Given the description of an element on the screen output the (x, y) to click on. 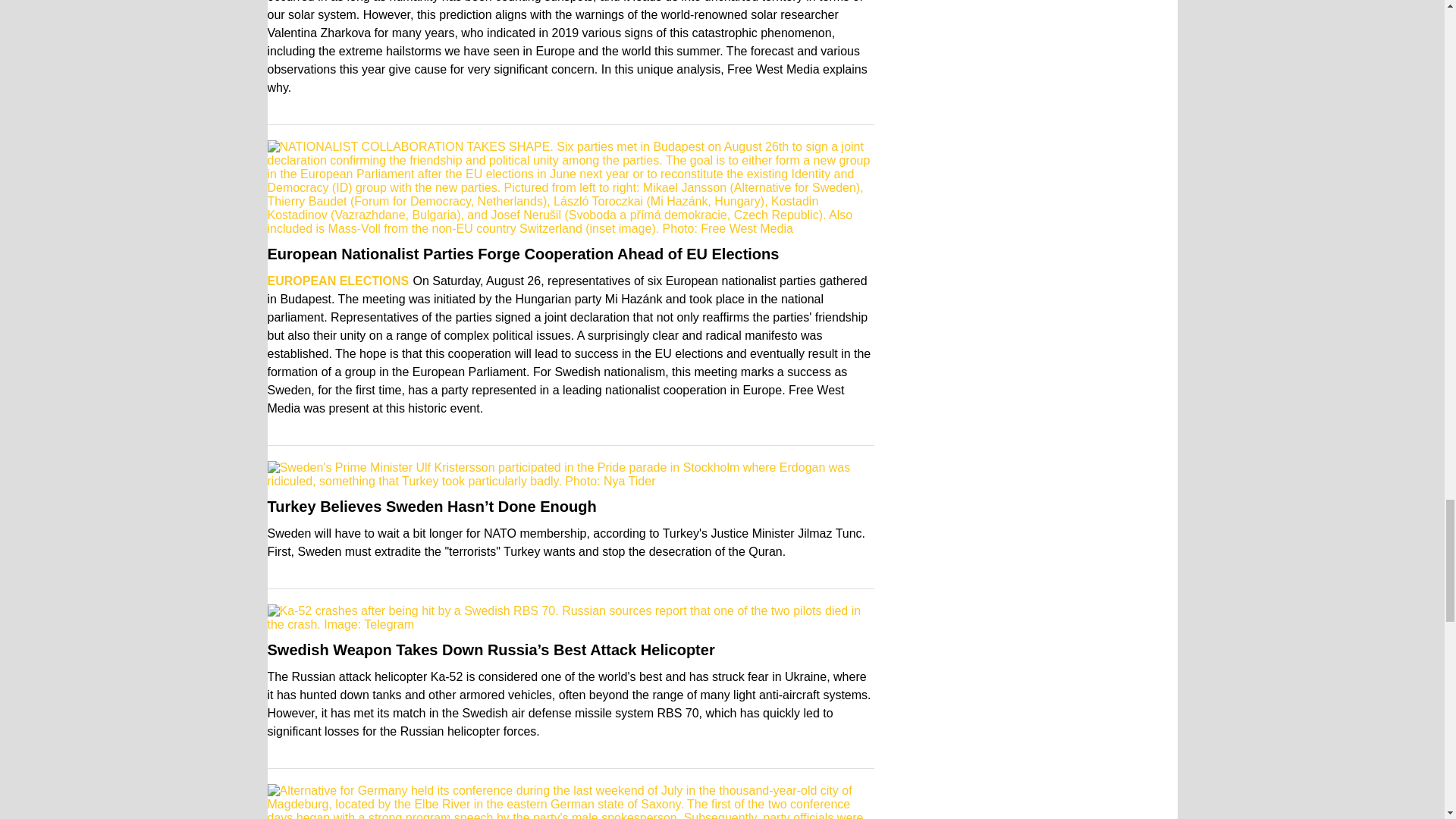
EUROPEAN ELECTIONS (337, 280)
